Given the description of an element on the screen output the (x, y) to click on. 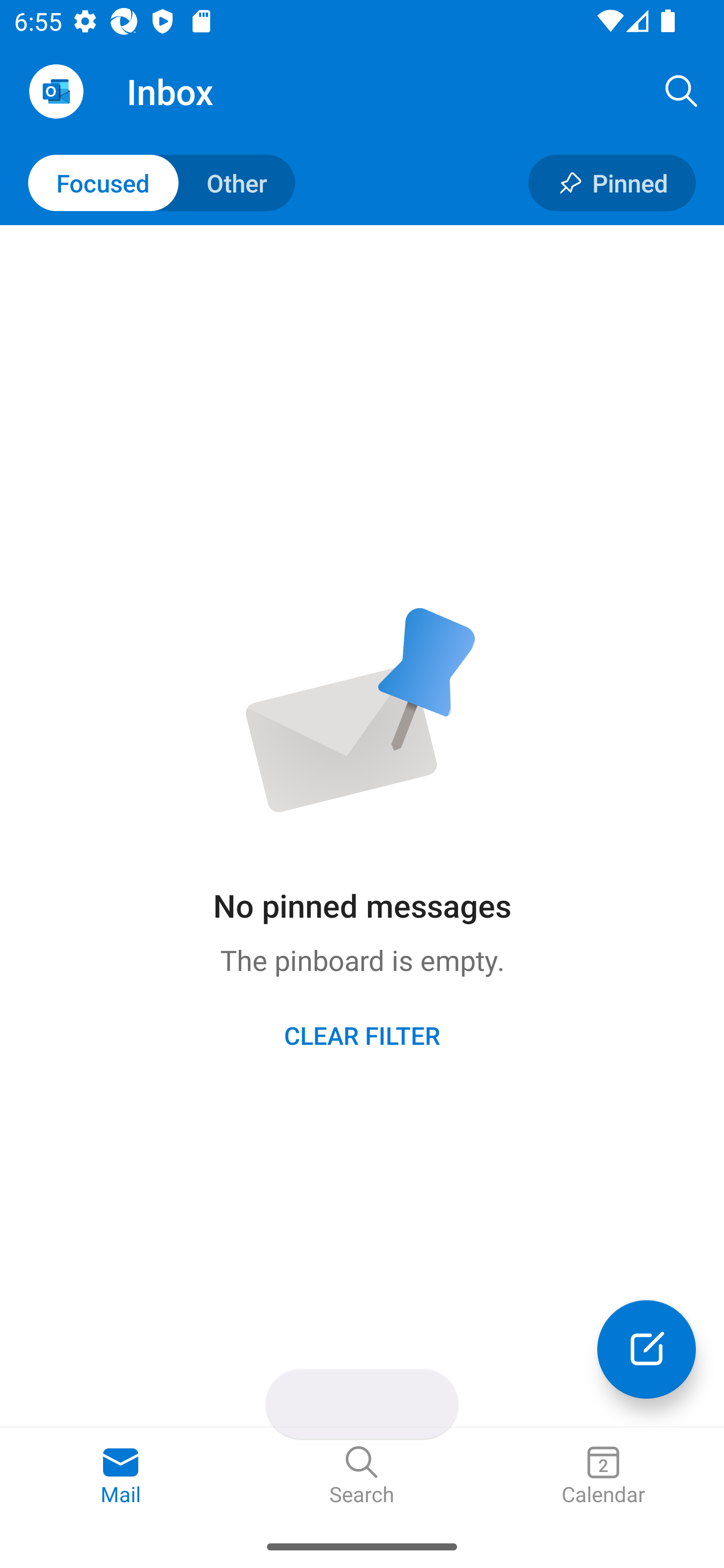
Search (681, 90)
Open Navigation Drawer (55, 91)
Toggle to other mails (161, 183)
CLEAR FILTER (361, 1034)
Compose (646, 1348)
Search (361, 1475)
Calendar (603, 1475)
